Given the description of an element on the screen output the (x, y) to click on. 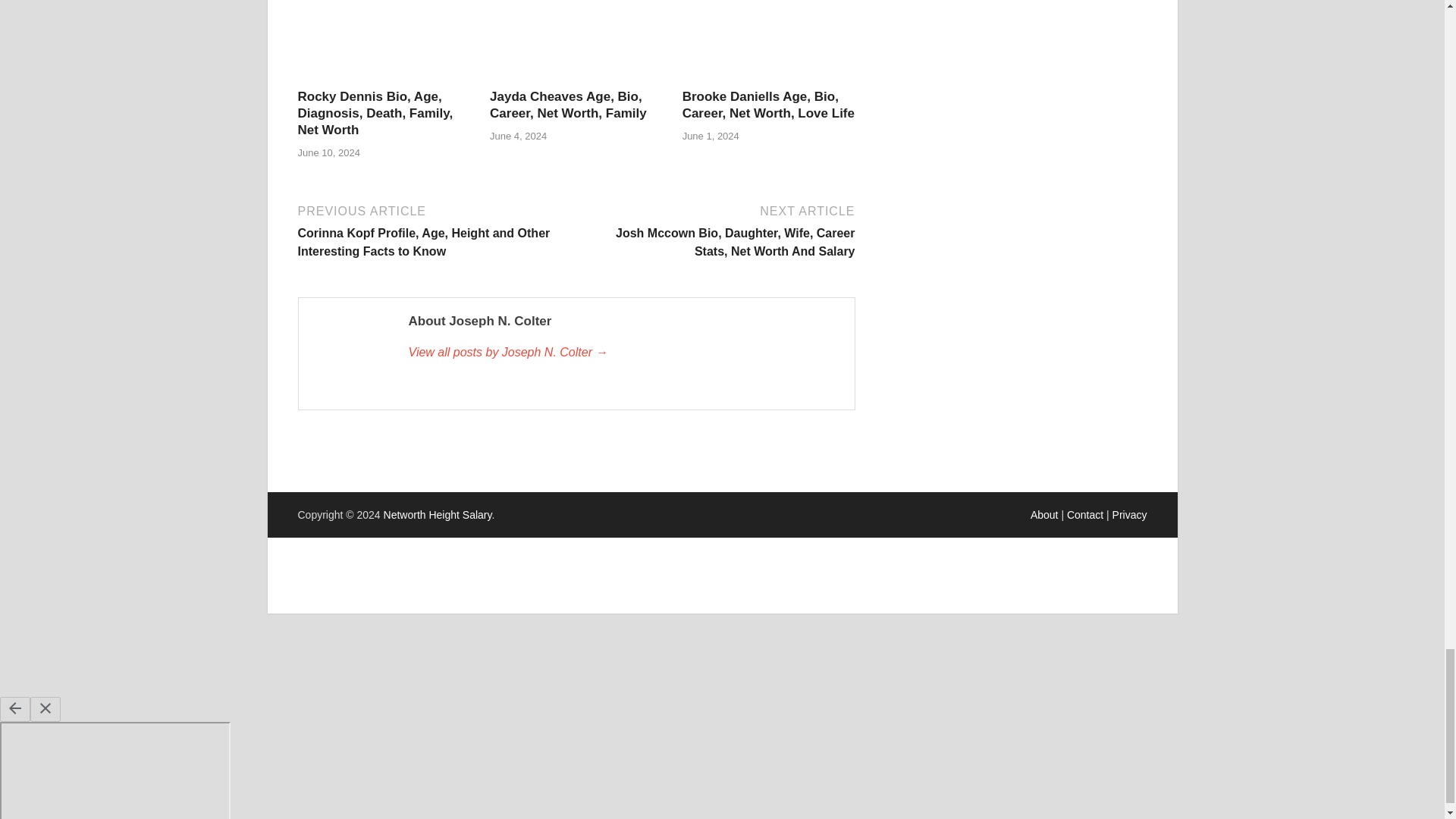
Rocky Dennis Bio, Age, Diagnosis, Death, Family, Net Worth (383, 78)
Jayda Cheaves Age, Bio, Career, Net Worth, Family (575, 78)
Joseph N. Colter (622, 352)
Brooke Daniells Age, Bio, Career, Net Worth, Love Life (769, 78)
Rocky Dennis Bio, Age, Diagnosis, Death, Family, Net Worth (374, 113)
Brooke Daniells Age, Bio, Career, Net Worth, Love Life (768, 104)
Jayda Cheaves Age, Bio, Career, Net Worth, Family (567, 104)
